Given the description of an element on the screen output the (x, y) to click on. 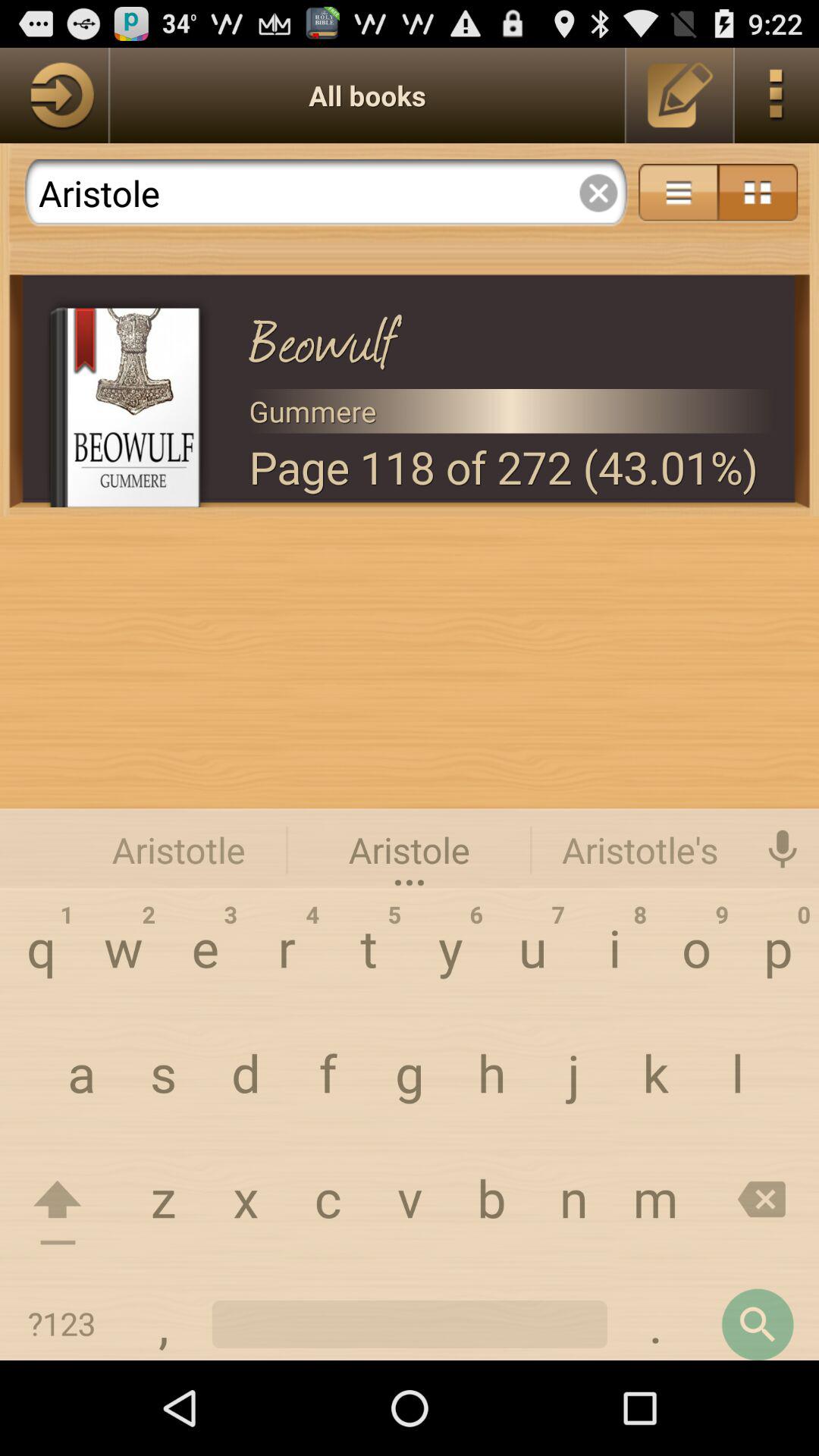
shows the menu option (776, 95)
